Given the description of an element on the screen output the (x, y) to click on. 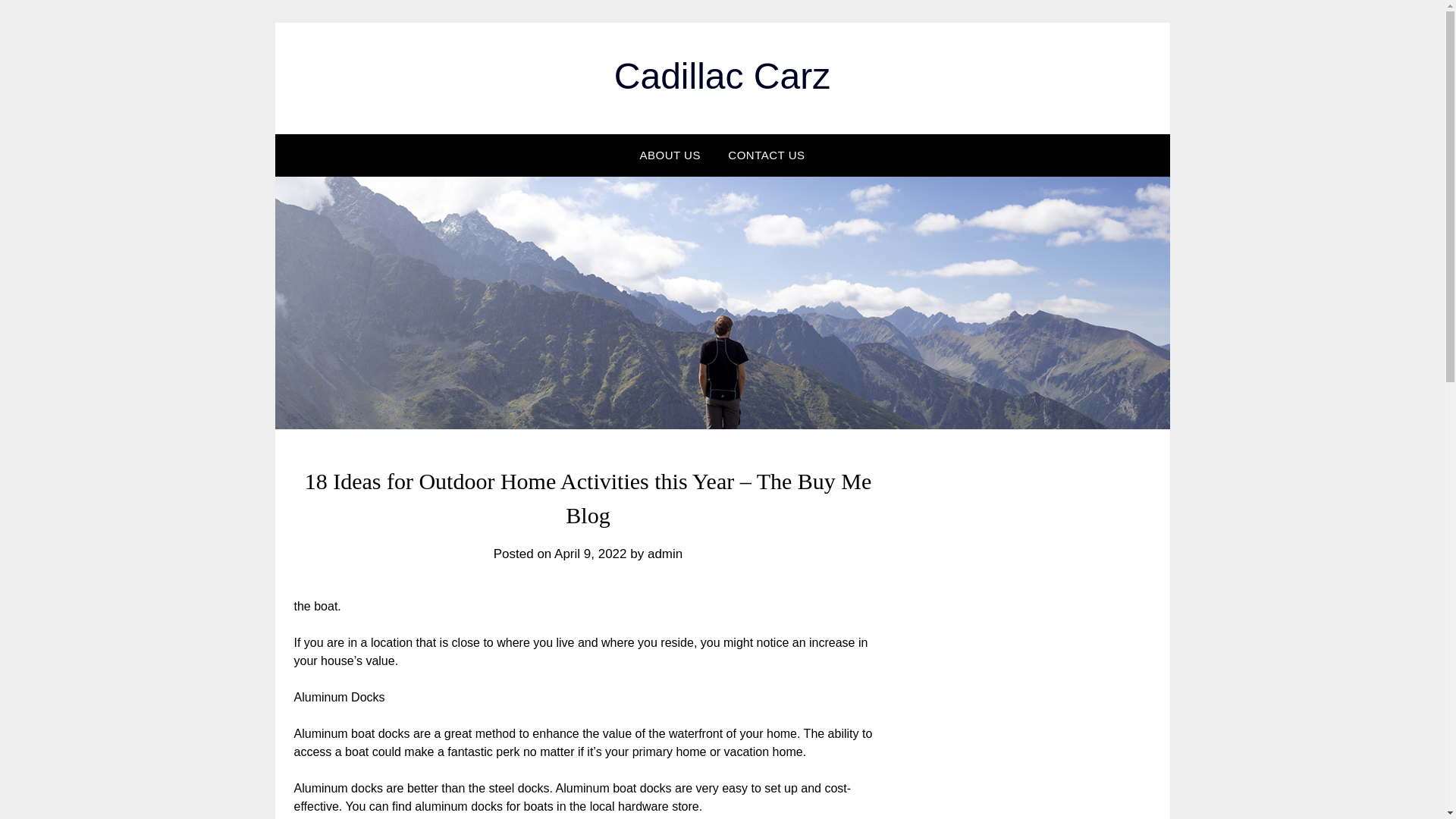
admin (664, 554)
ABOUT US (670, 155)
CONTACT US (766, 155)
April 9, 2022 (590, 554)
Cadillac Carz (721, 76)
